Given the description of an element on the screen output the (x, y) to click on. 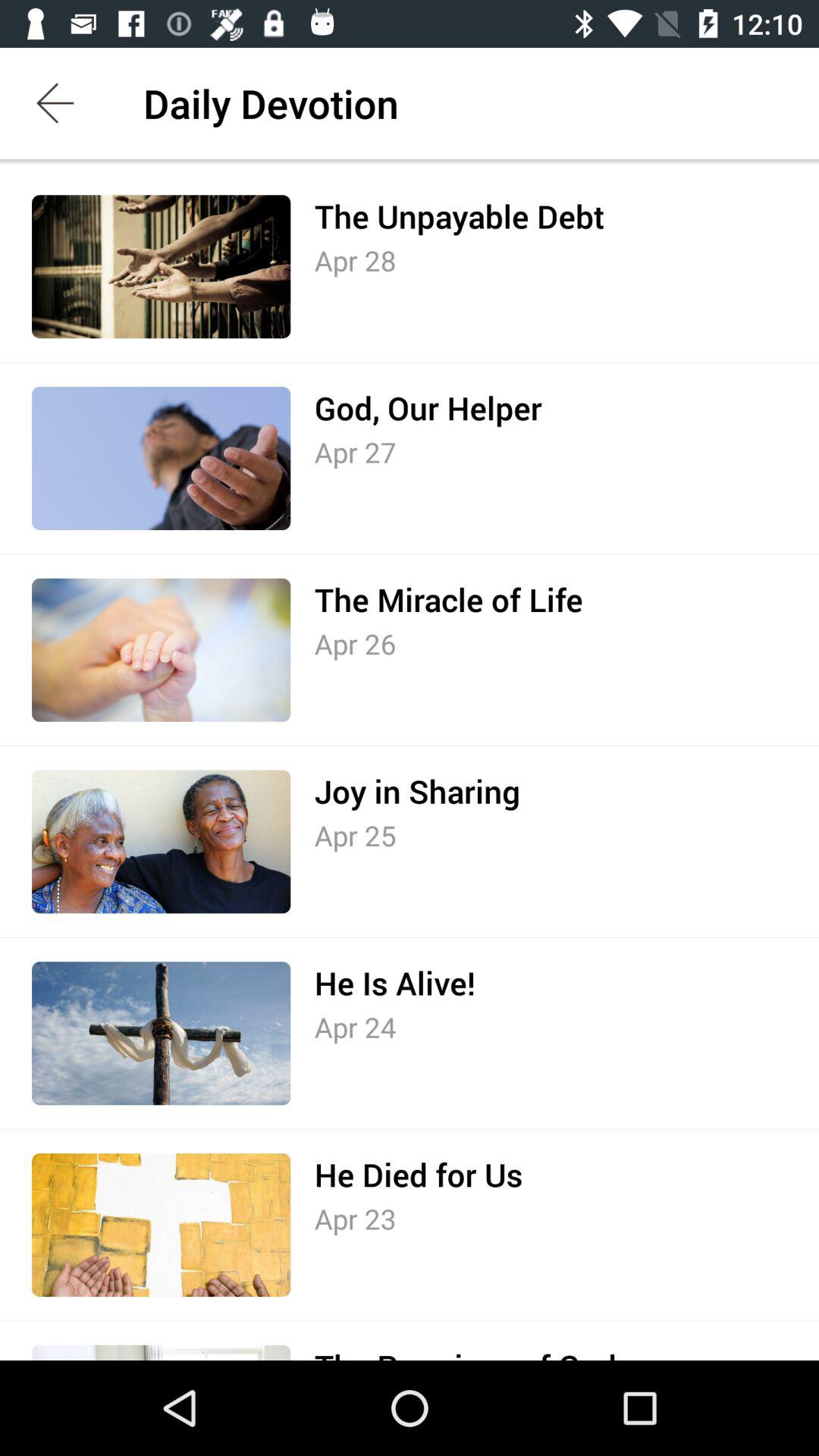
press the icon below god, our helper (355, 451)
